Given the description of an element on the screen output the (x, y) to click on. 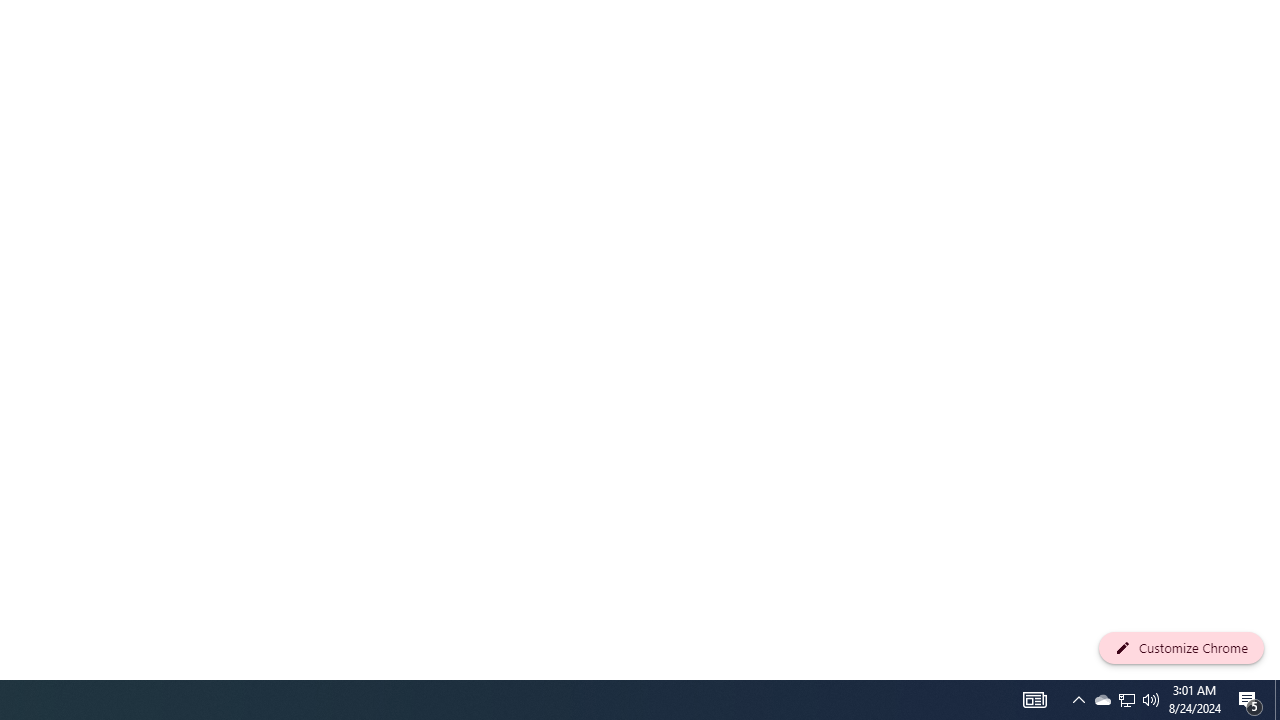
Customize Chrome (1181, 647)
